Given the description of an element on the screen output the (x, y) to click on. 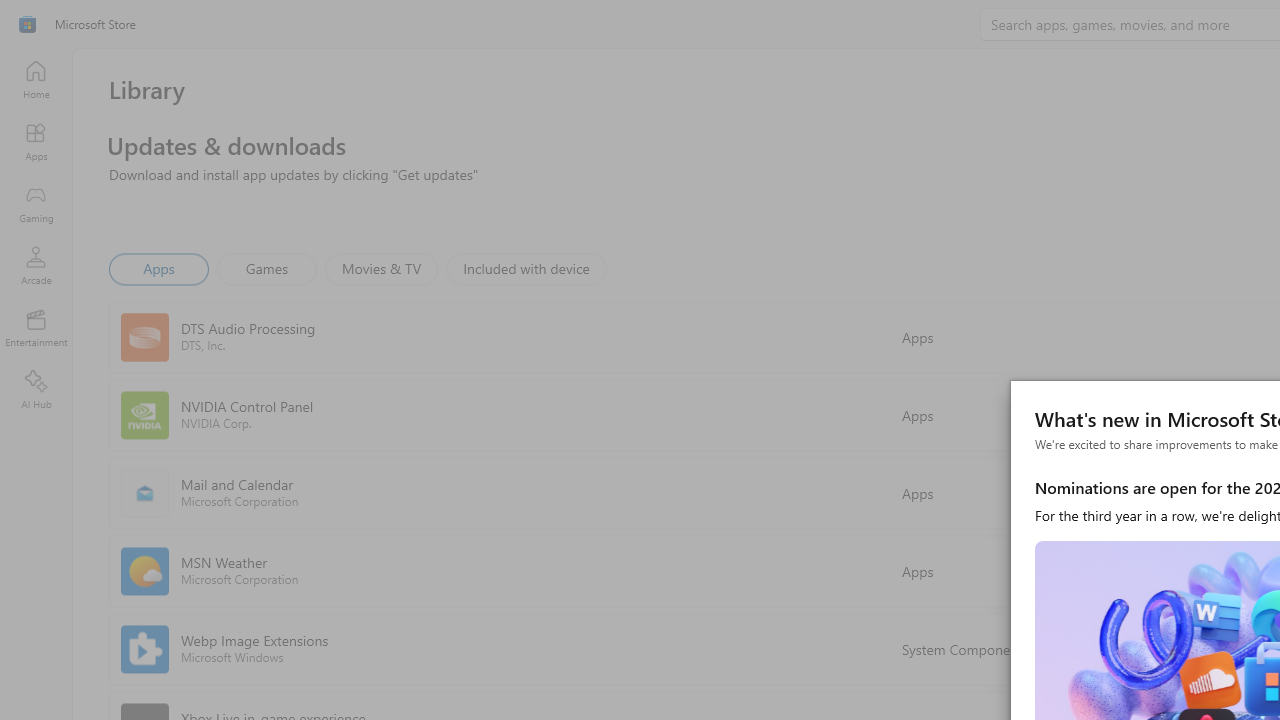
Movies & TV (381, 268)
Home (35, 79)
Entertainment (35, 327)
AI Hub (35, 390)
Included with device (525, 268)
Games (267, 268)
Arcade (35, 265)
Gaming (35, 203)
